Given the description of an element on the screen output the (x, y) to click on. 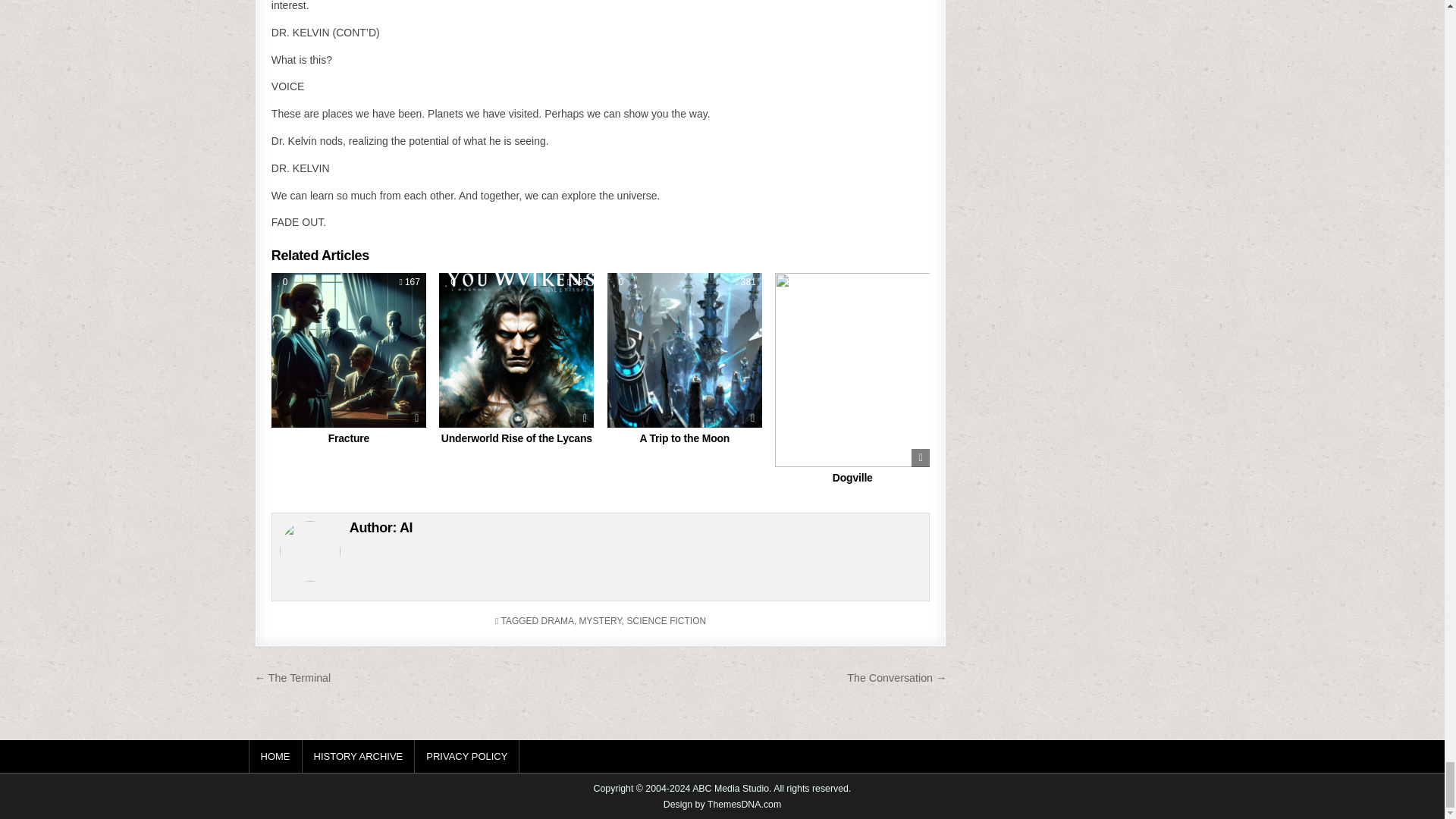
Like this (283, 281)
Underworld Rise of the Lycans (516, 438)
Fracture (349, 438)
Permanent Link to Fracture (348, 349)
0 (450, 281)
0 (283, 281)
0 (618, 281)
